Given the description of an element on the screen output the (x, y) to click on. 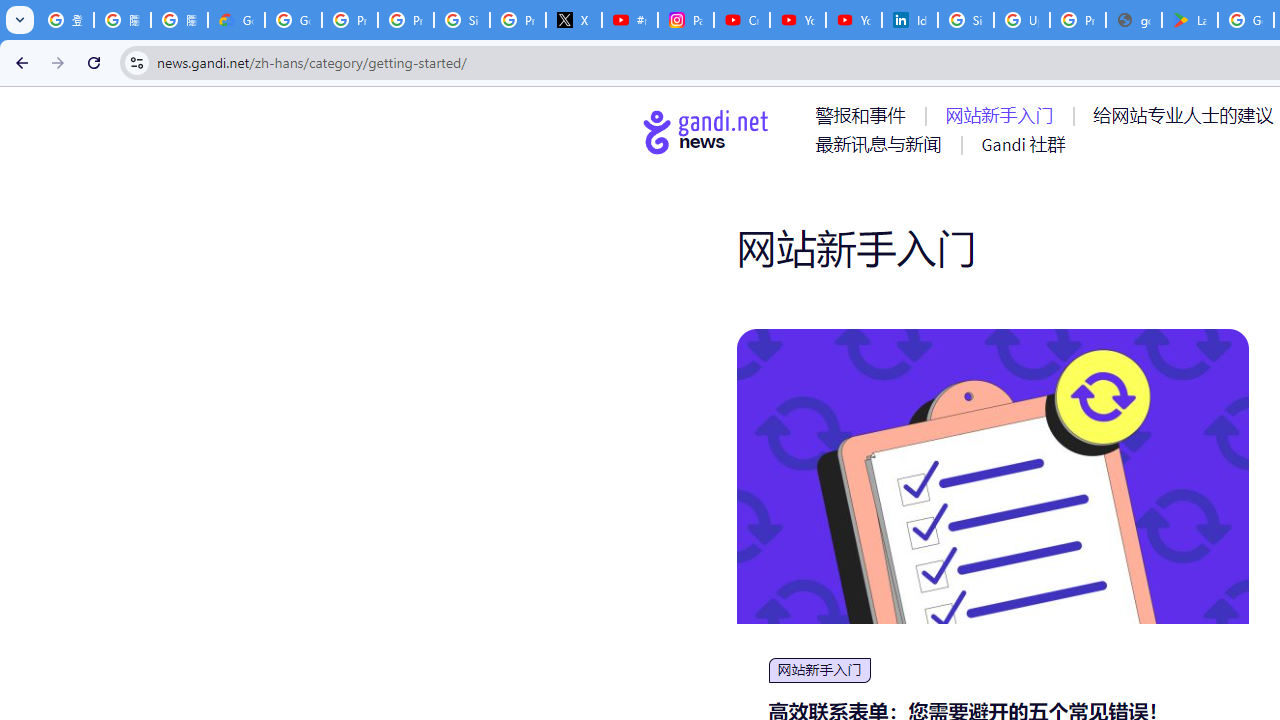
X (573, 20)
AutomationID: menu-item-77766 (882, 143)
Sign in - Google Accounts (966, 20)
Privacy Help Center - Policies Help (405, 20)
Google Cloud Privacy Notice (235, 20)
